Given the description of an element on the screen output the (x, y) to click on. 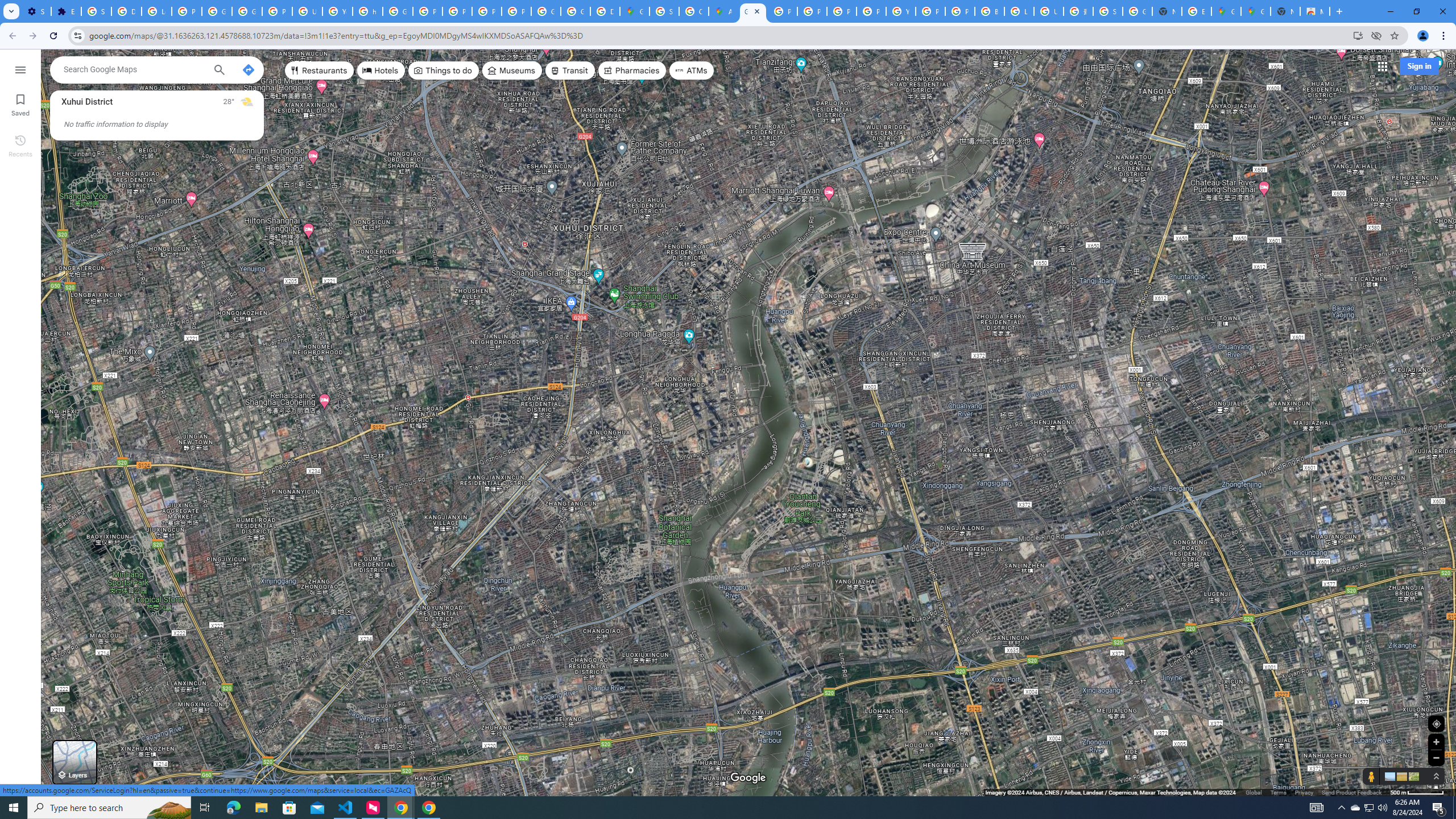
Learn how to find your photos - Google Photos Help (156, 11)
YouTube (900, 11)
500 m (1417, 792)
Menu (20, 68)
Send Product Feedback (1351, 792)
Hotels (381, 70)
Zoom in (1436, 741)
Show Your Location (1436, 723)
Things to do (443, 70)
Recents (20, 145)
